Given the description of an element on the screen output the (x, y) to click on. 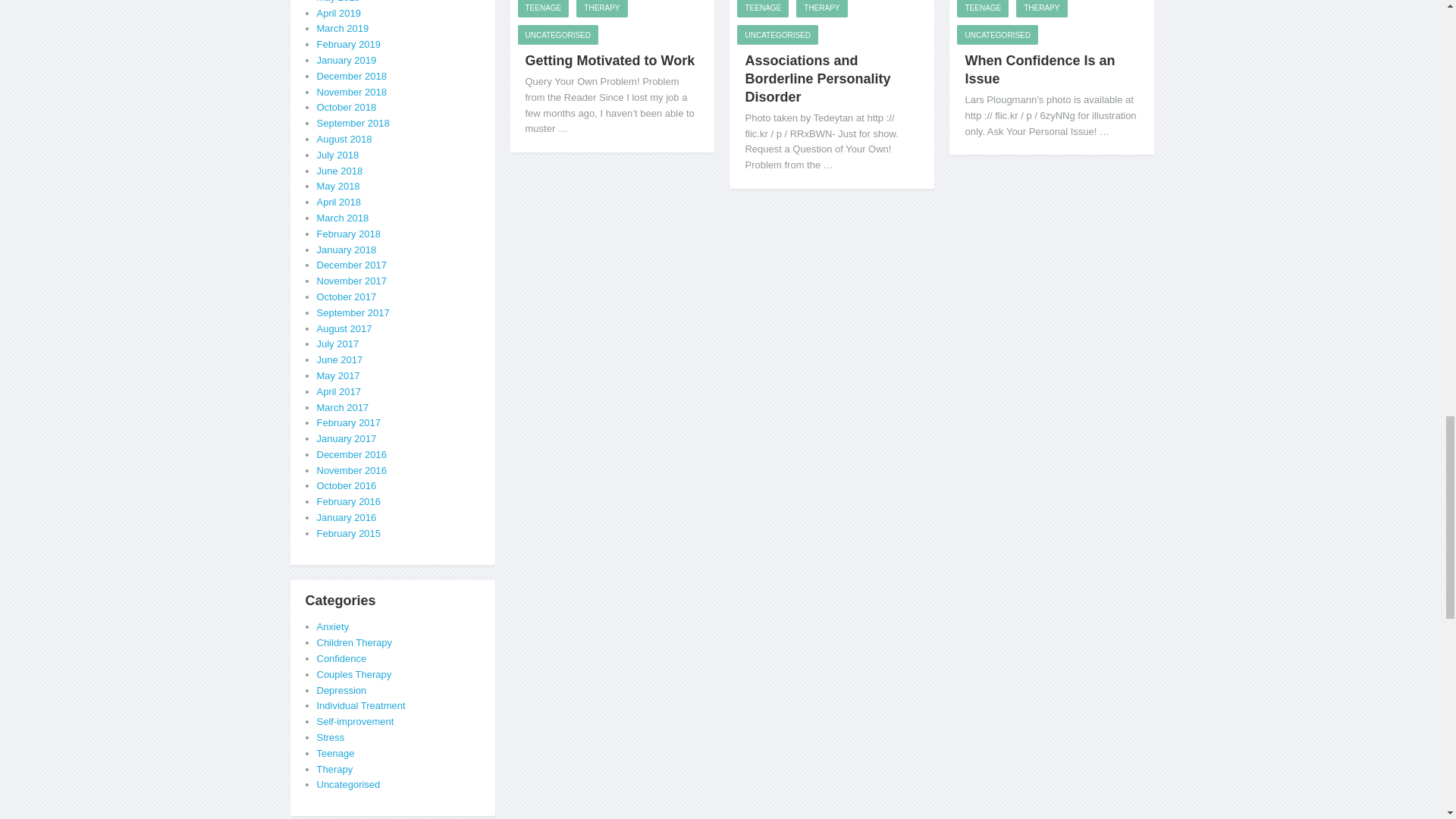
TEENAGE (542, 8)
Getting Motivated to Work (609, 60)
THERAPY (601, 8)
UNCATEGORISED (557, 35)
